Given the description of an element on the screen output the (x, y) to click on. 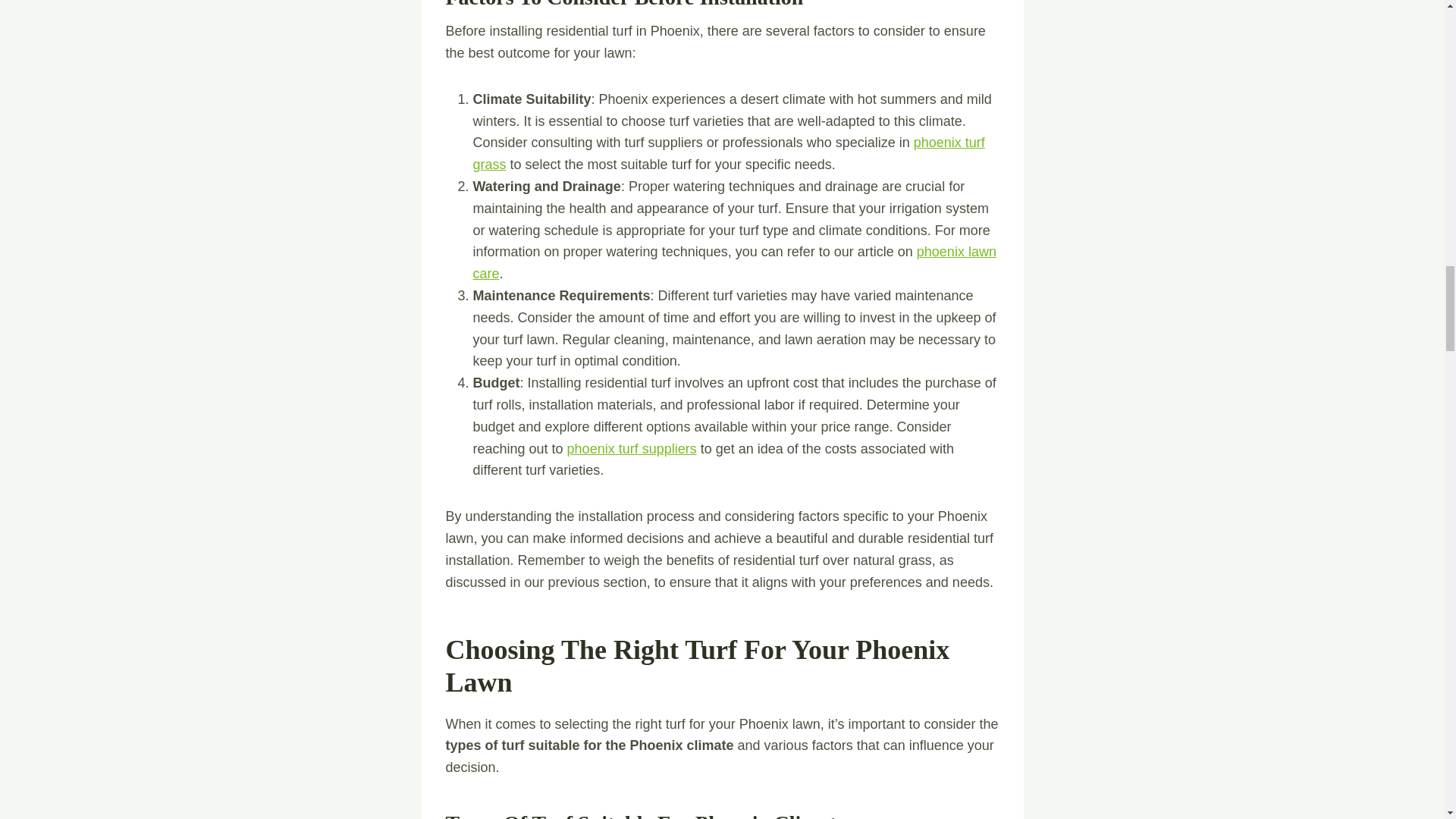
phoenix turf suppliers (632, 448)
phoenix lawn care (734, 262)
phoenix turf grass (729, 153)
